Given the description of an element on the screen output the (x, y) to click on. 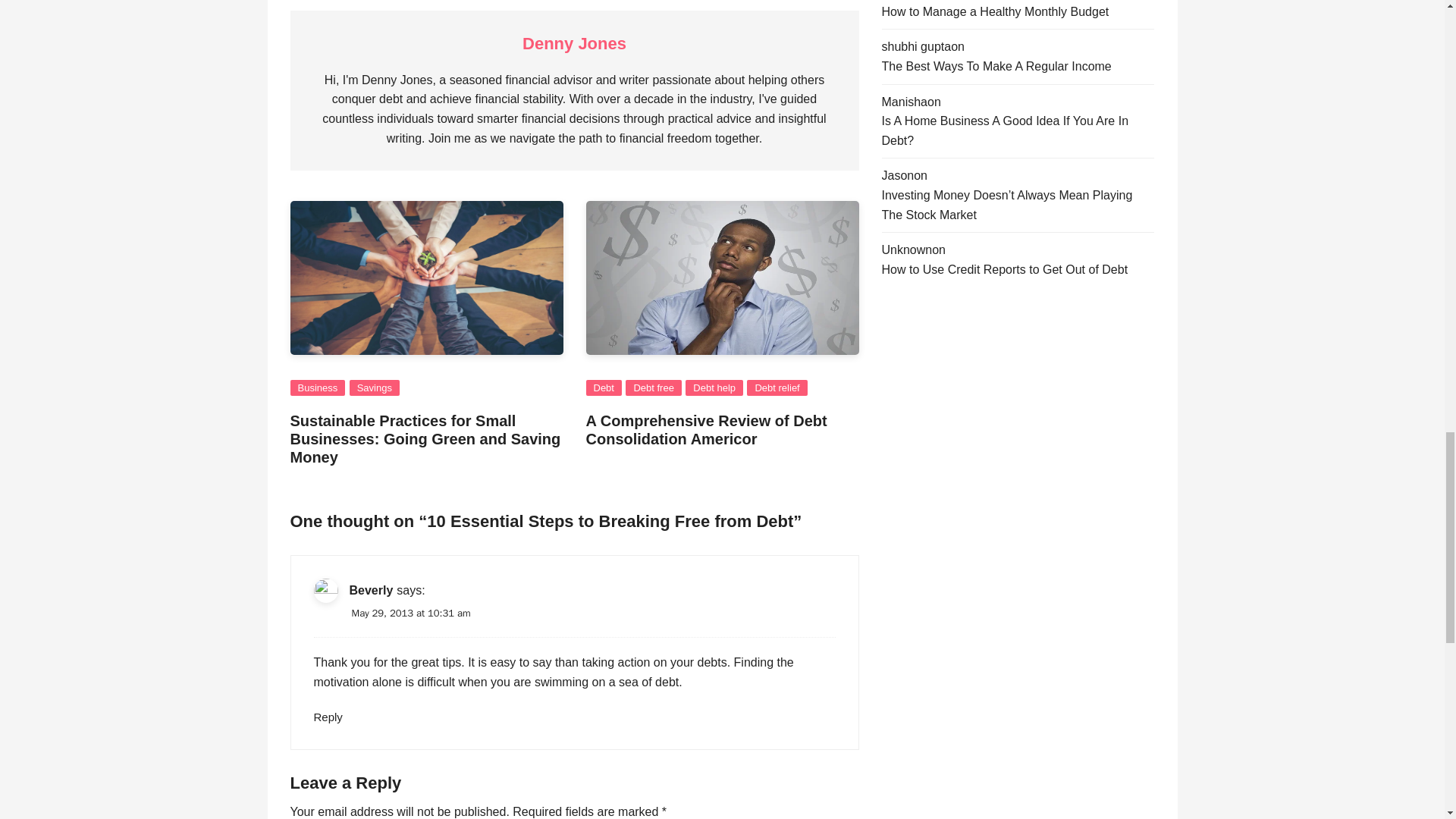
Savings (373, 387)
Business (317, 387)
